Given the description of an element on the screen output the (x, y) to click on. 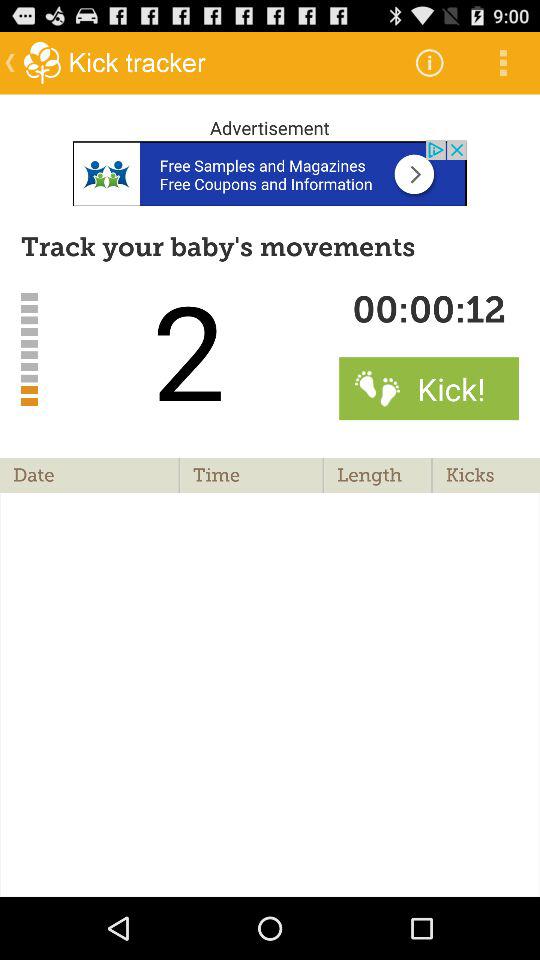
go to advertisement site (269, 172)
